Given the description of an element on the screen output the (x, y) to click on. 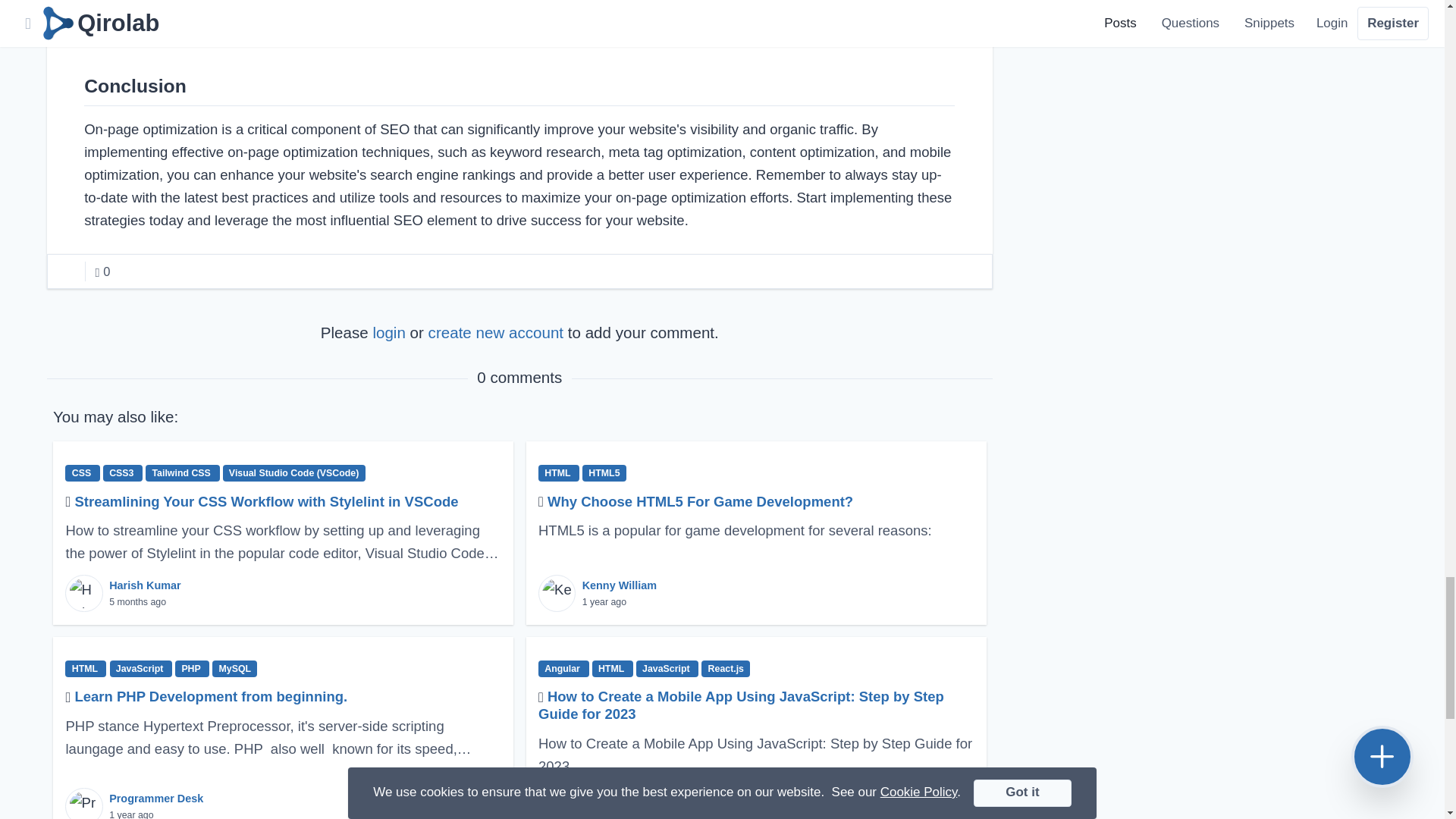
JavaScript (140, 668)
login (388, 332)
James Smith (615, 798)
Why Choose HTML5 For Game Development? (700, 501)
HTML (558, 473)
Learn PHP Development from beginning. (210, 696)
HTML (612, 668)
JavaScript (667, 668)
HTML (85, 668)
Kenny William (619, 585)
HTML5 (604, 473)
Angular (563, 668)
CSS (82, 473)
MySQL (234, 668)
Tailwind CSS (182, 473)
